Given the description of an element on the screen output the (x, y) to click on. 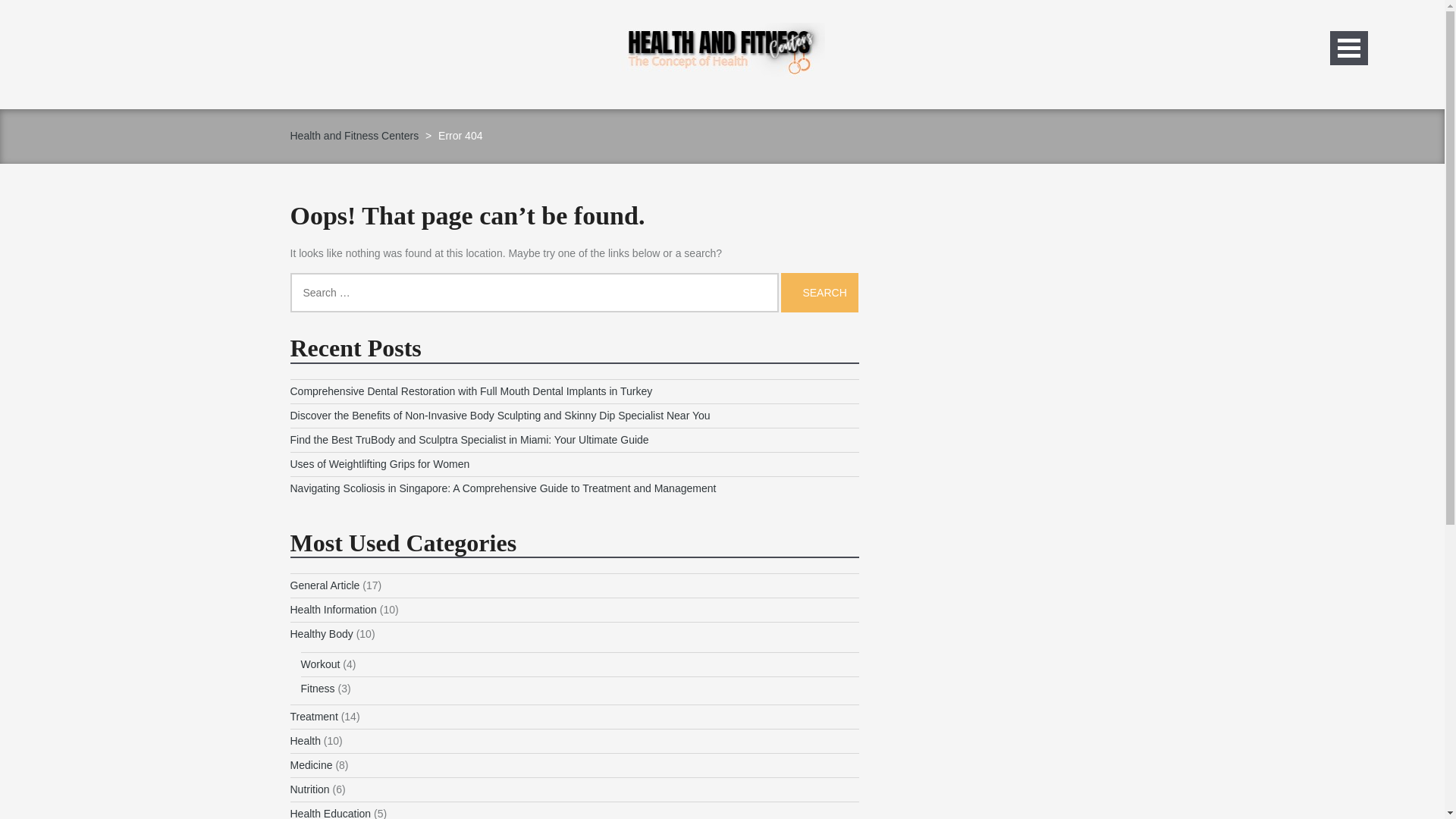
Uses of Weightlifting Grips for Women (378, 463)
Healthy Body (320, 633)
Search (819, 292)
Search (819, 292)
Health Information (332, 609)
Search (819, 292)
Health and Fitness Centers (354, 135)
General Article (324, 585)
